Given the description of an element on the screen output the (x, y) to click on. 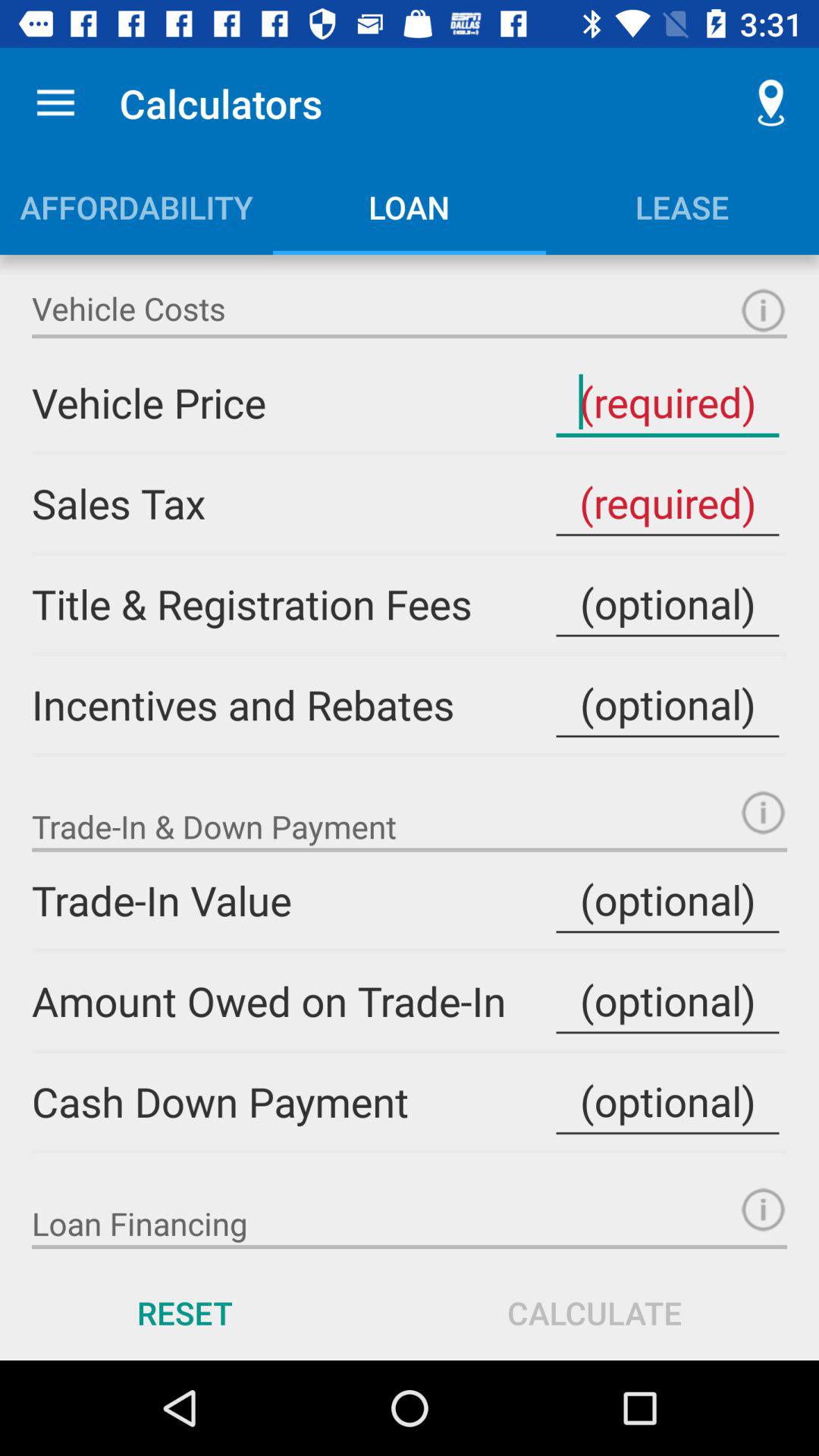
turn off calculate icon (594, 1312)
